Given the description of an element on the screen output the (x, y) to click on. 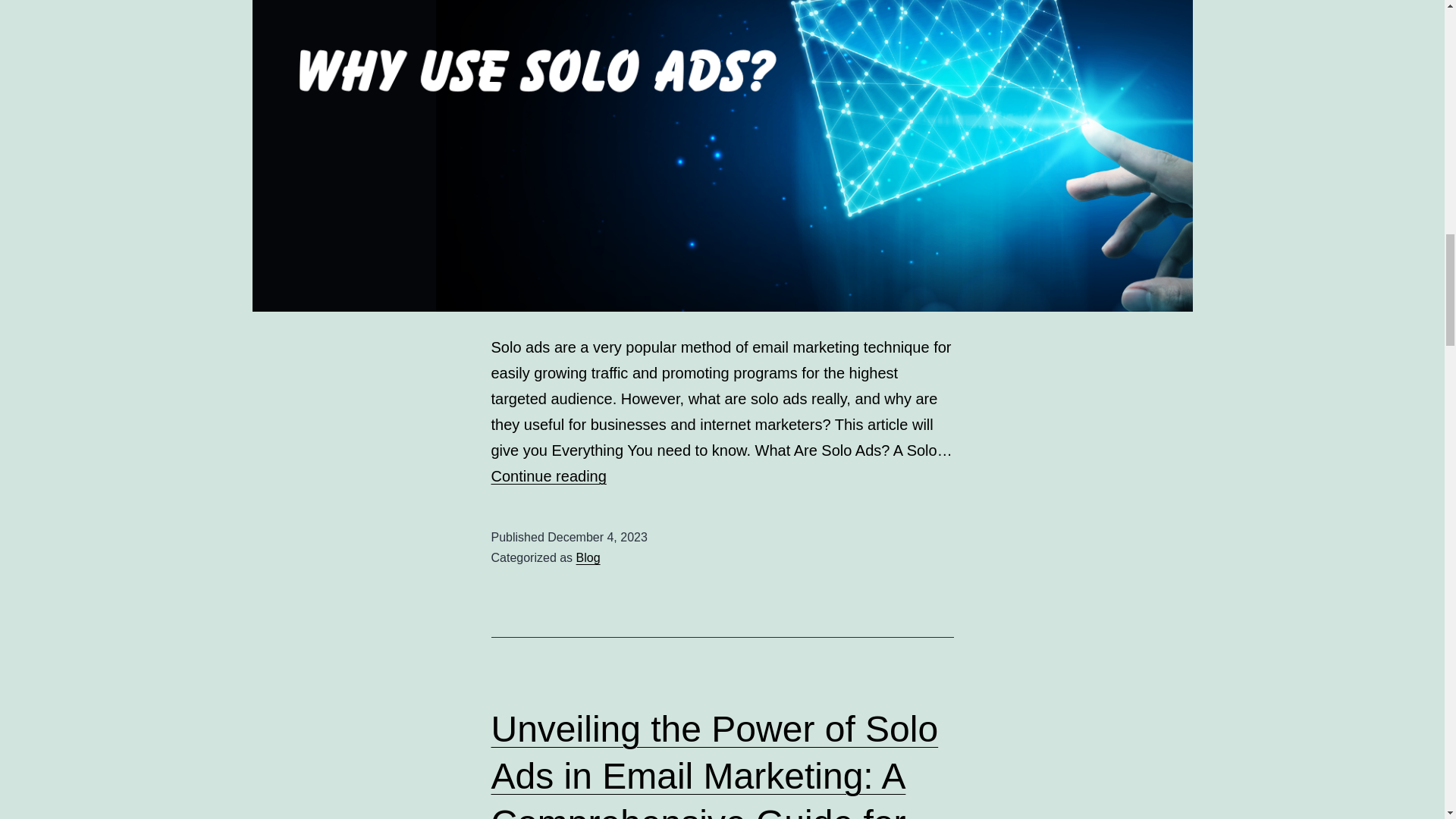
Blog (587, 557)
Continue reading (549, 475)
